Given the description of an element on the screen output the (x, y) to click on. 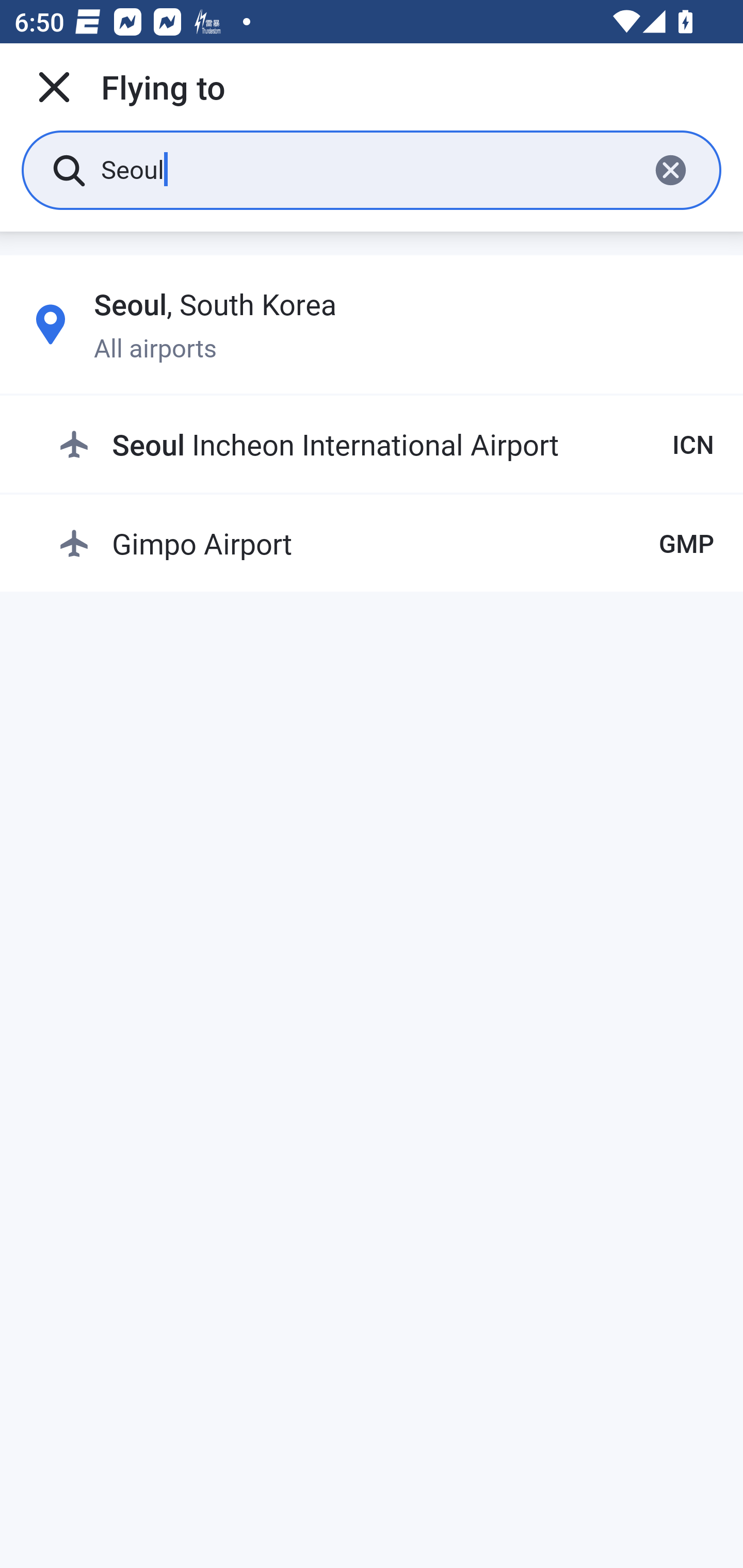
Seoul (367, 169)
Seoul, South Korea All airports (371, 324)
Seoul Incheon International Airport ICN (385, 444)
Gimpo Airport GMP (385, 543)
